Given the description of an element on the screen output the (x, y) to click on. 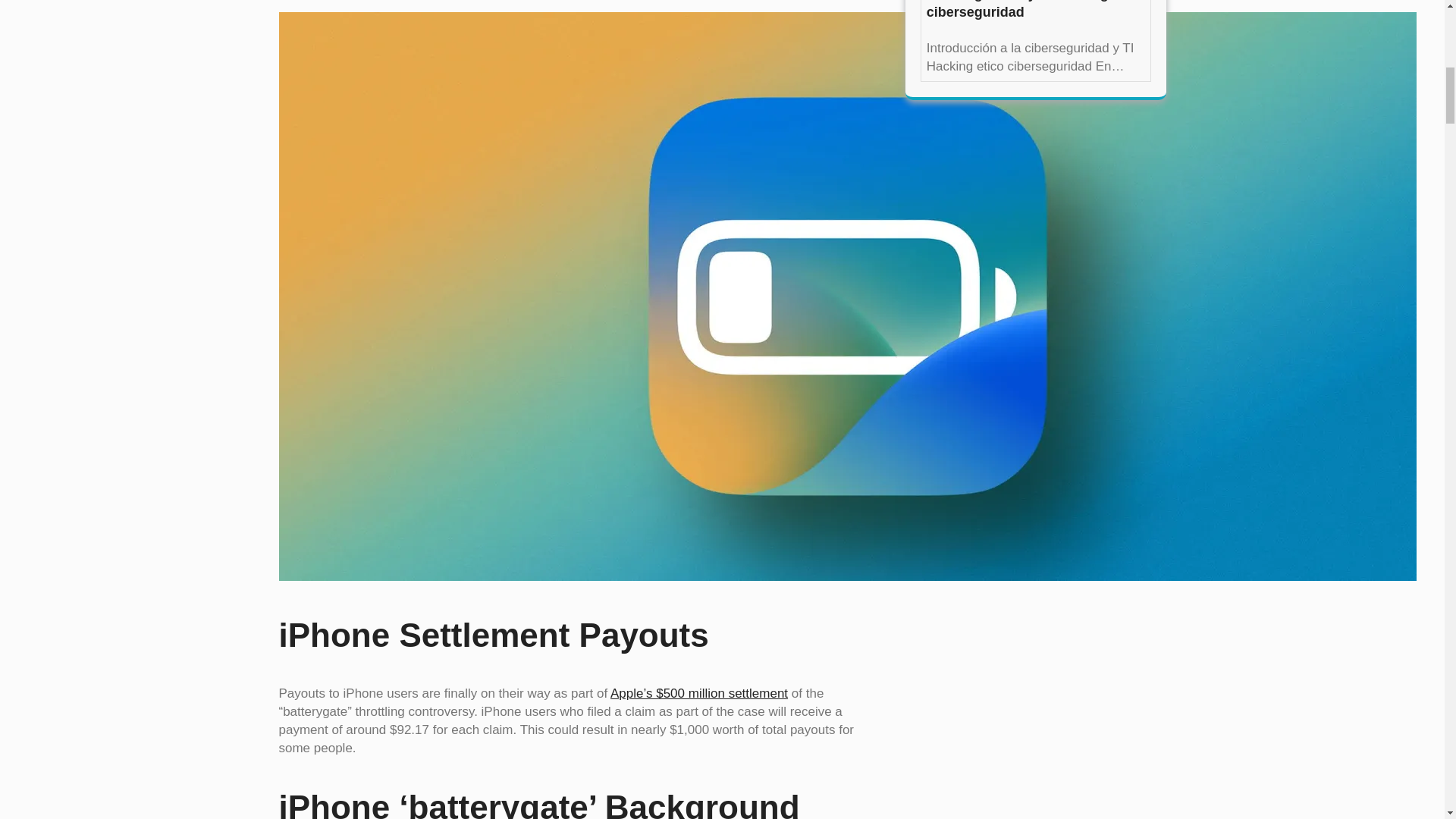
ciberseguridad y TI Hacking etico ciberseguridad (1035, 10)
